Given the description of an element on the screen output the (x, y) to click on. 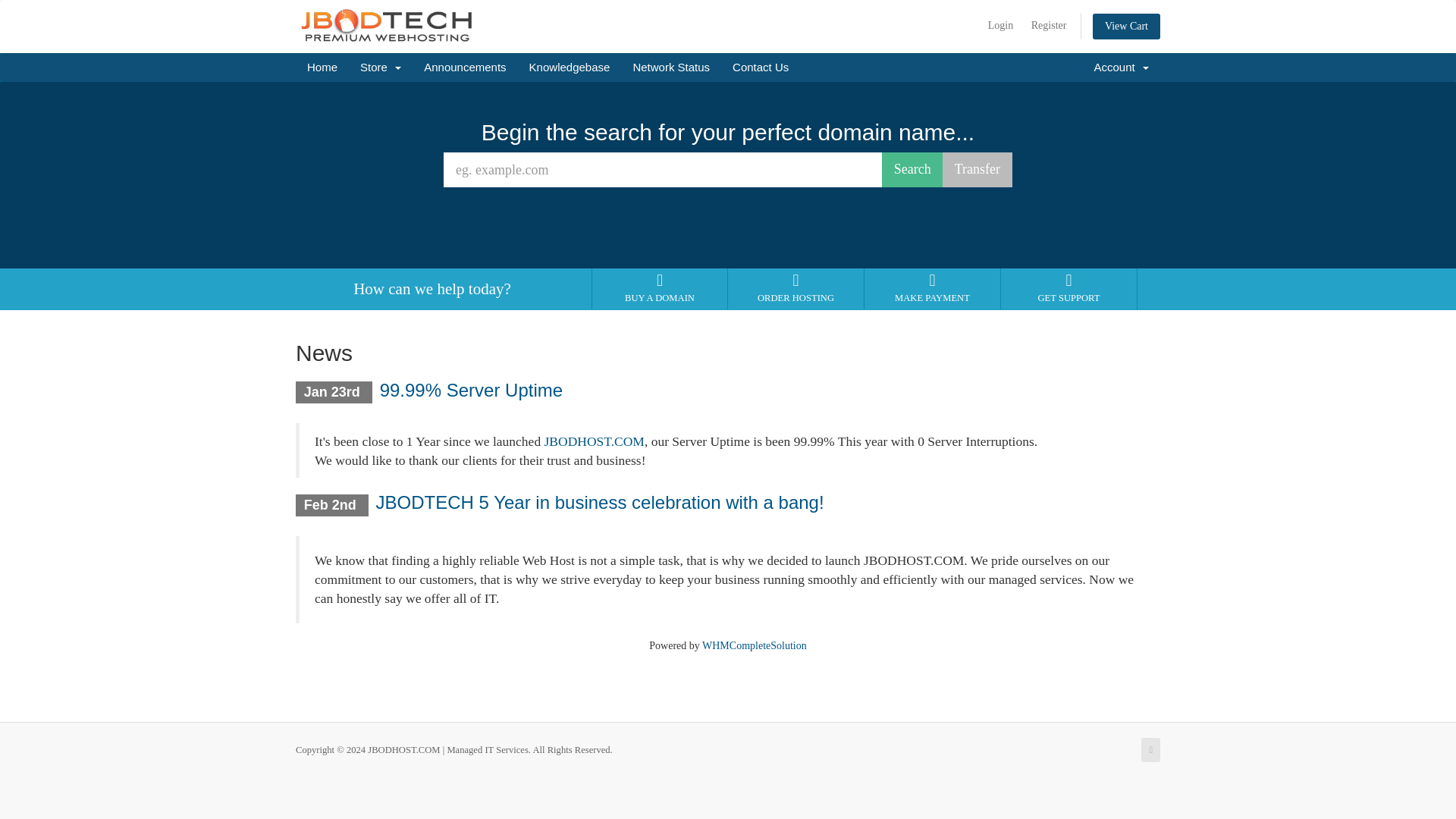
Knowledgebase (569, 67)
ORDER HOSTING (795, 288)
Announcements (464, 67)
BUY A DOMAIN (659, 288)
GET SUPPORT (1068, 288)
Home (322, 67)
Transfer (976, 169)
Network Status (670, 67)
Transfer (976, 169)
JBODTECH 5 Year in business celebration with a bang! (599, 502)
Register (1048, 25)
Login (999, 25)
View Cart (1126, 26)
Search (912, 169)
JBODHOST.COM (594, 441)
